Given the description of an element on the screen output the (x, y) to click on. 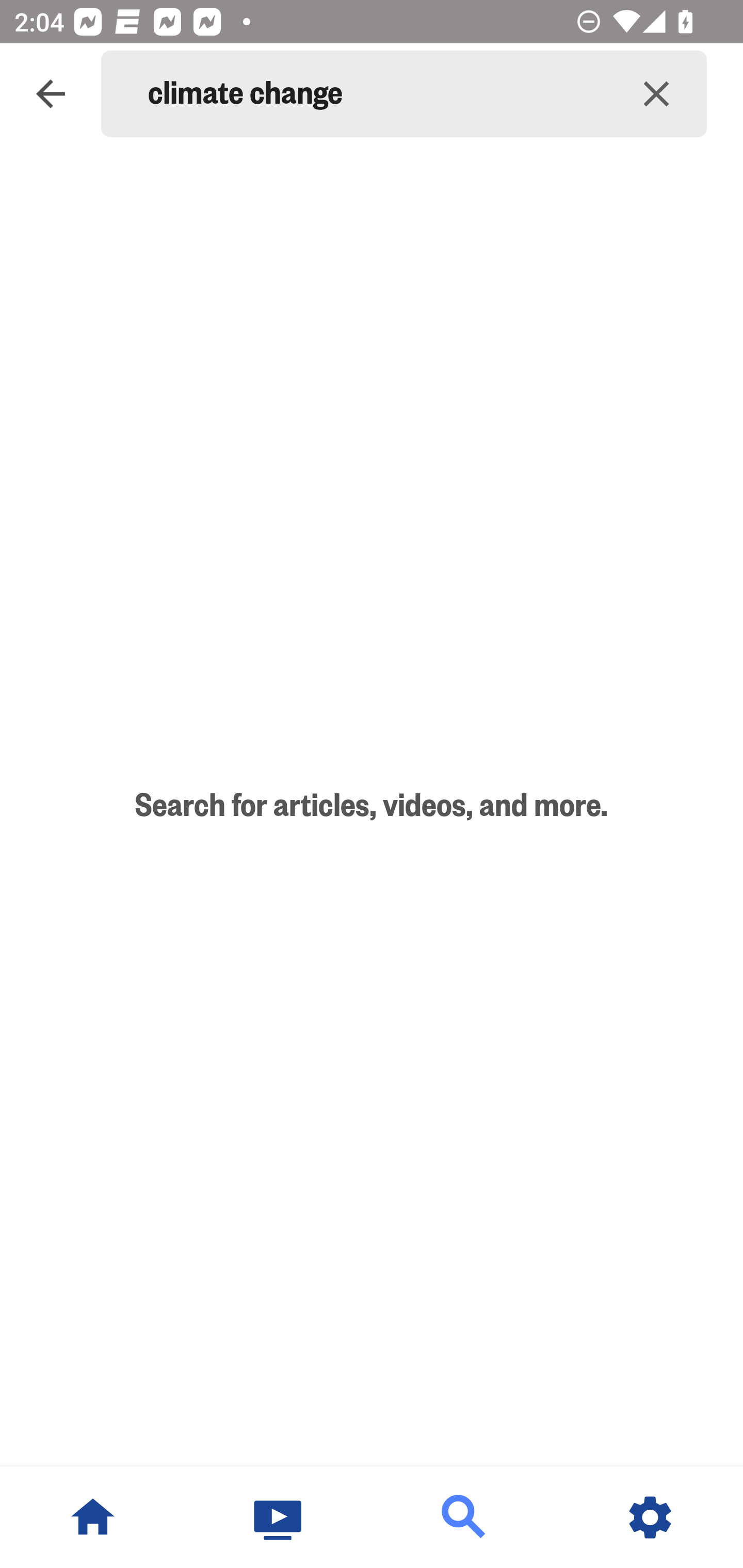
Navigate up (50, 93)
Clear query (656, 93)
climate change (376, 94)
NBC News Home (92, 1517)
Watch (278, 1517)
Settings (650, 1517)
